Given the description of an element on the screen output the (x, y) to click on. 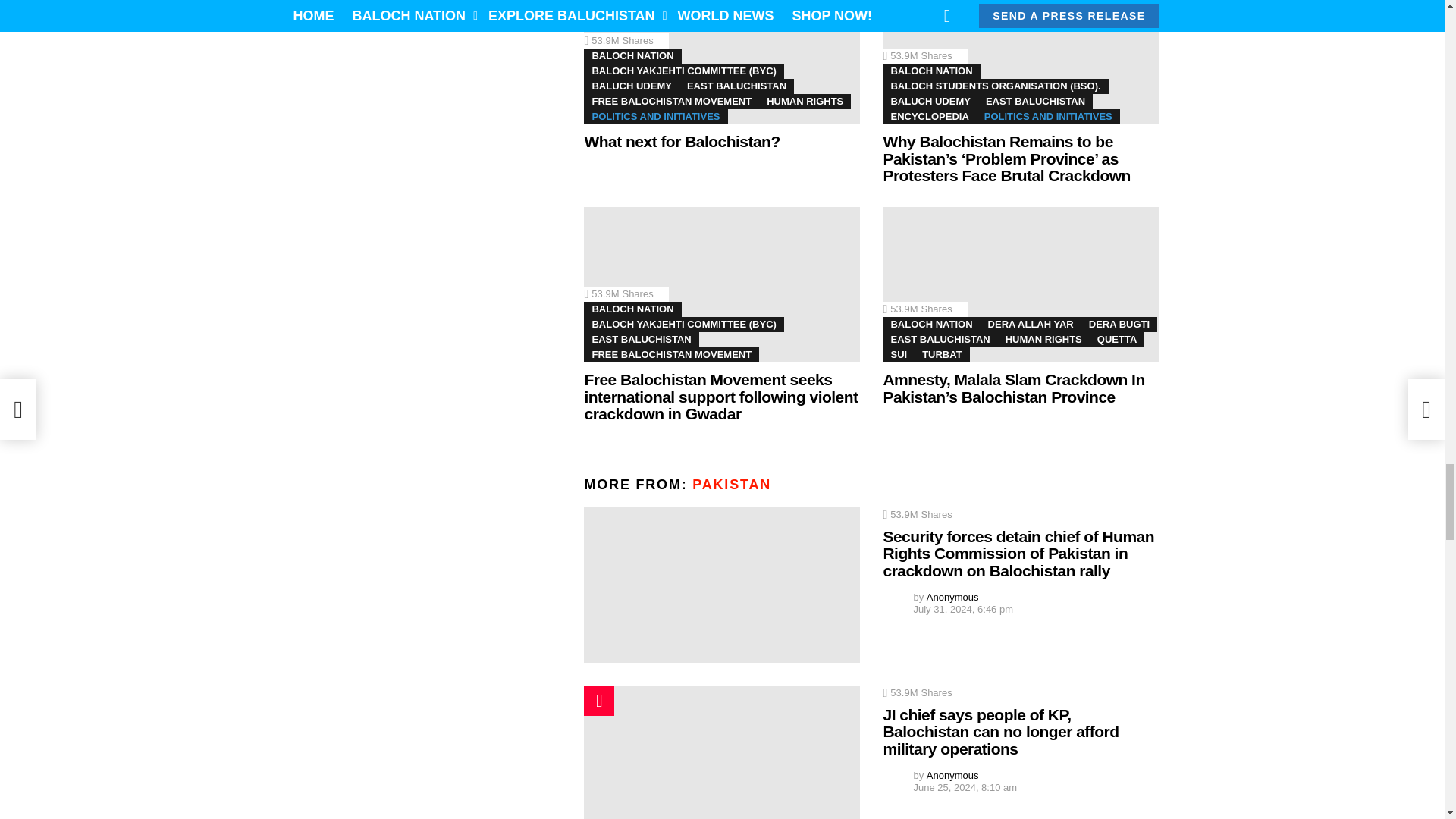
What next for Balochistan? (721, 62)
